Given the description of an element on the screen output the (x, y) to click on. 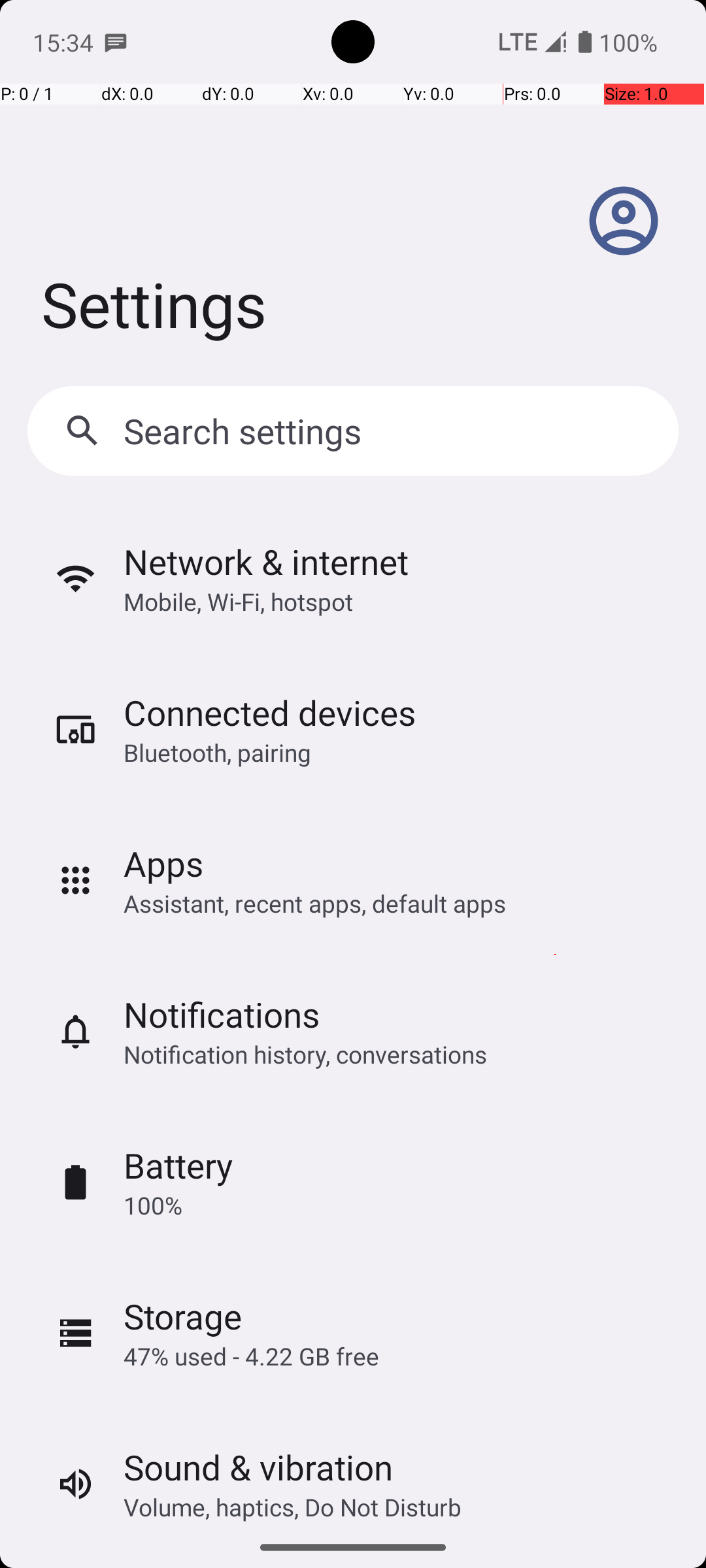
47% used - 4.22 GB free Element type: android.widget.TextView (251, 1355)
